Given the description of an element on the screen output the (x, y) to click on. 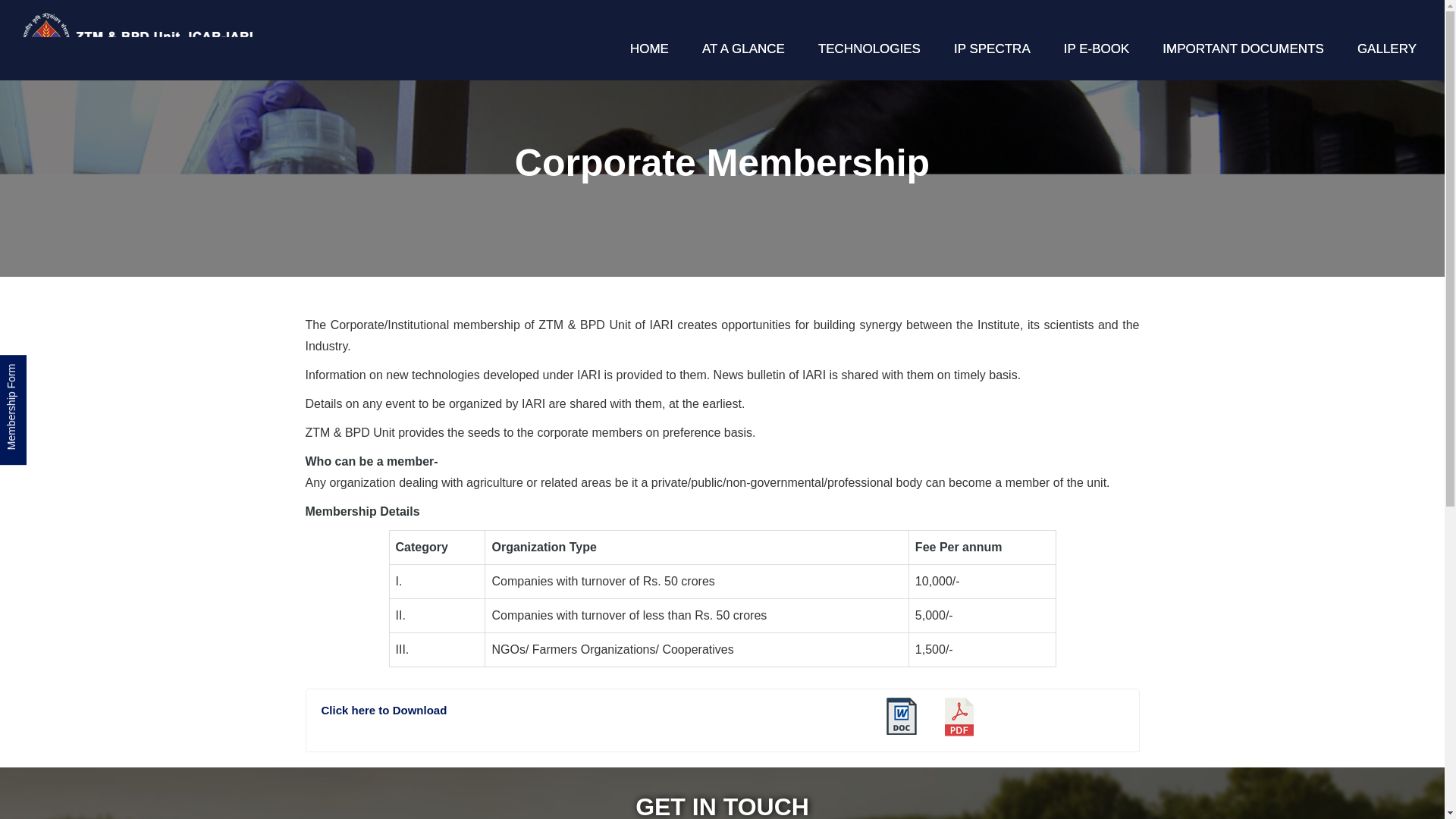
HOME (648, 49)
TECHNOLOGIES (869, 49)
AT A GLANCE (743, 49)
